Given the description of an element on the screen output the (x, y) to click on. 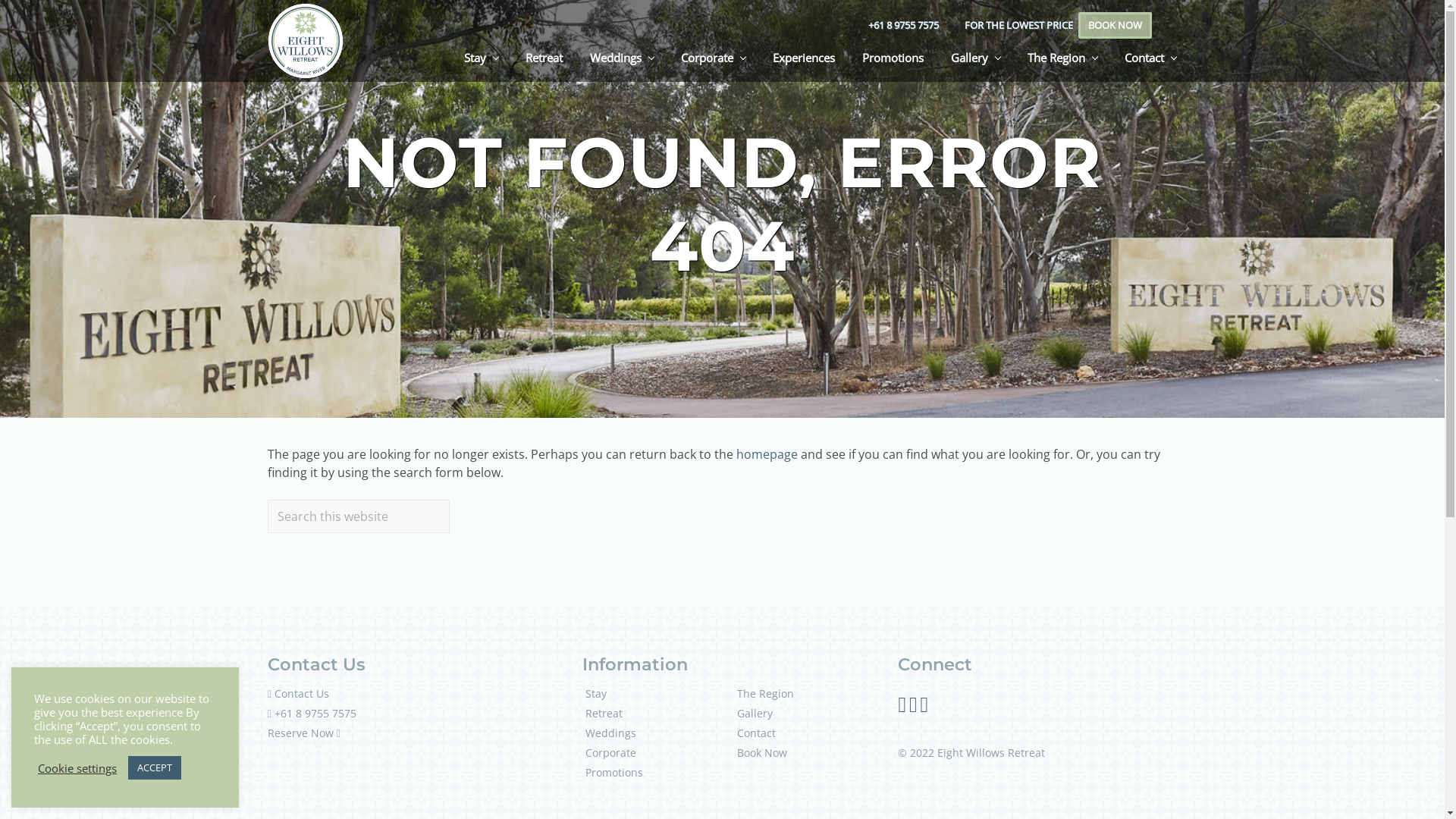
The Region Element type: text (1061, 57)
Follow us on Youtube Element type: hover (924, 707)
Contact Element type: text (1149, 57)
Menu Element type: text (0, 0)
Stay Element type: text (480, 57)
+61 8 9755 7575 Element type: text (315, 713)
Corporate Element type: text (610, 752)
The Region Element type: text (765, 693)
Gallery Element type: text (975, 57)
Follow Us on Instagram Element type: hover (913, 707)
Corporate Element type: text (712, 57)
Retreat Element type: text (603, 713)
Contact Us Element type: text (301, 693)
Promotions Element type: text (892, 57)
Retreat Element type: text (543, 57)
Weddings Element type: text (610, 732)
ACCEPT Element type: text (154, 767)
BOOK NOW Element type: text (1114, 25)
Contact Element type: text (756, 732)
Promotions Element type: text (614, 772)
Experiences Element type: text (802, 57)
Gallery Element type: text (754, 713)
Follow Us on Facebook Element type: hover (901, 707)
homepage Element type: text (766, 453)
Reserve Now Element type: text (299, 732)
Search Element type: text (448, 498)
Book Now Element type: text (762, 752)
Cookie settings Element type: text (76, 768)
Weddings Element type: text (621, 57)
Stay Element type: text (595, 693)
